Given the description of an element on the screen output the (x, y) to click on. 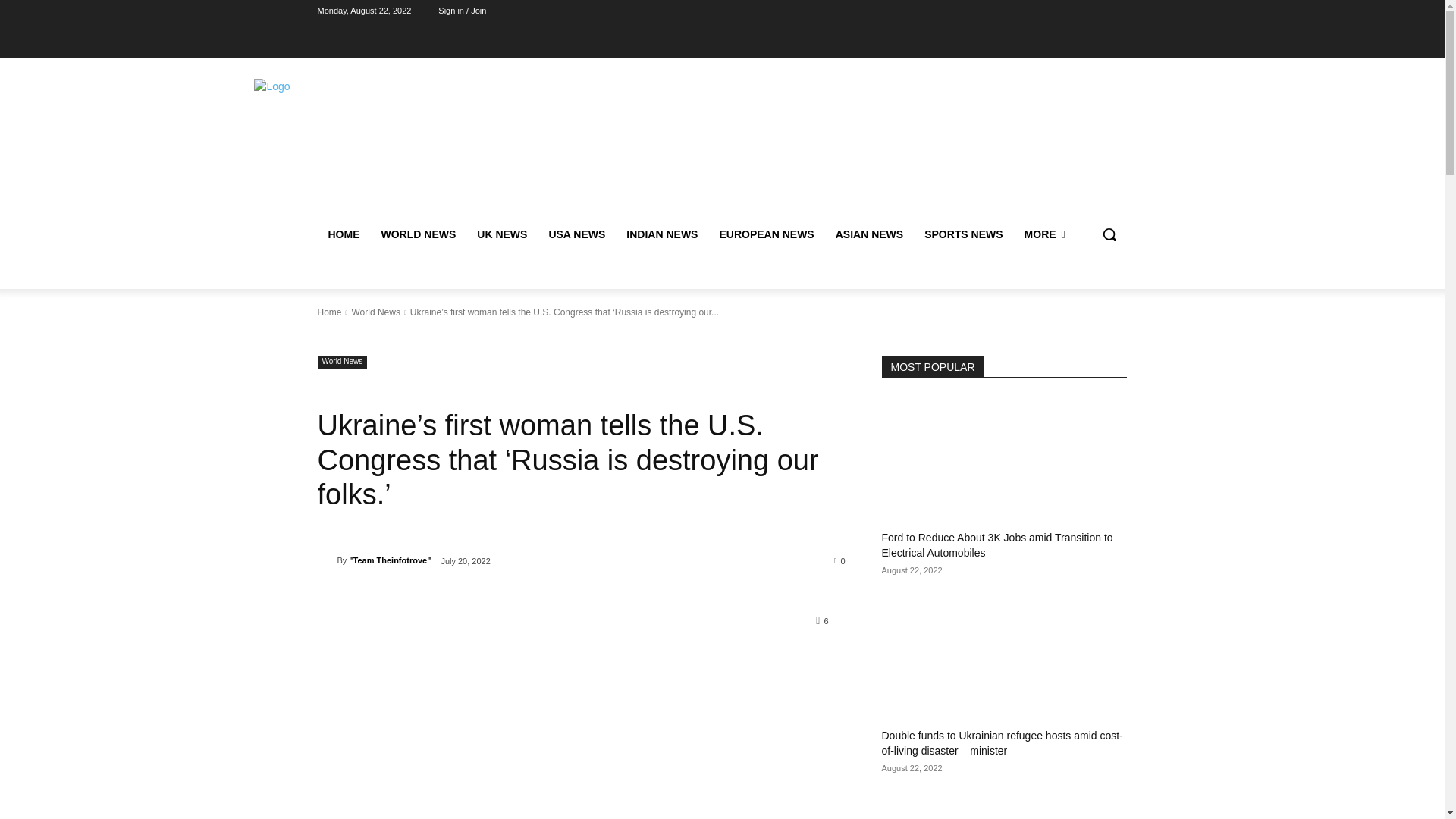
HOME (343, 234)
UK NEWS (501, 234)
USA NEWS (576, 234)
WORLD NEWS (417, 234)
View all posts in World News (374, 312)
